Given the description of an element on the screen output the (x, y) to click on. 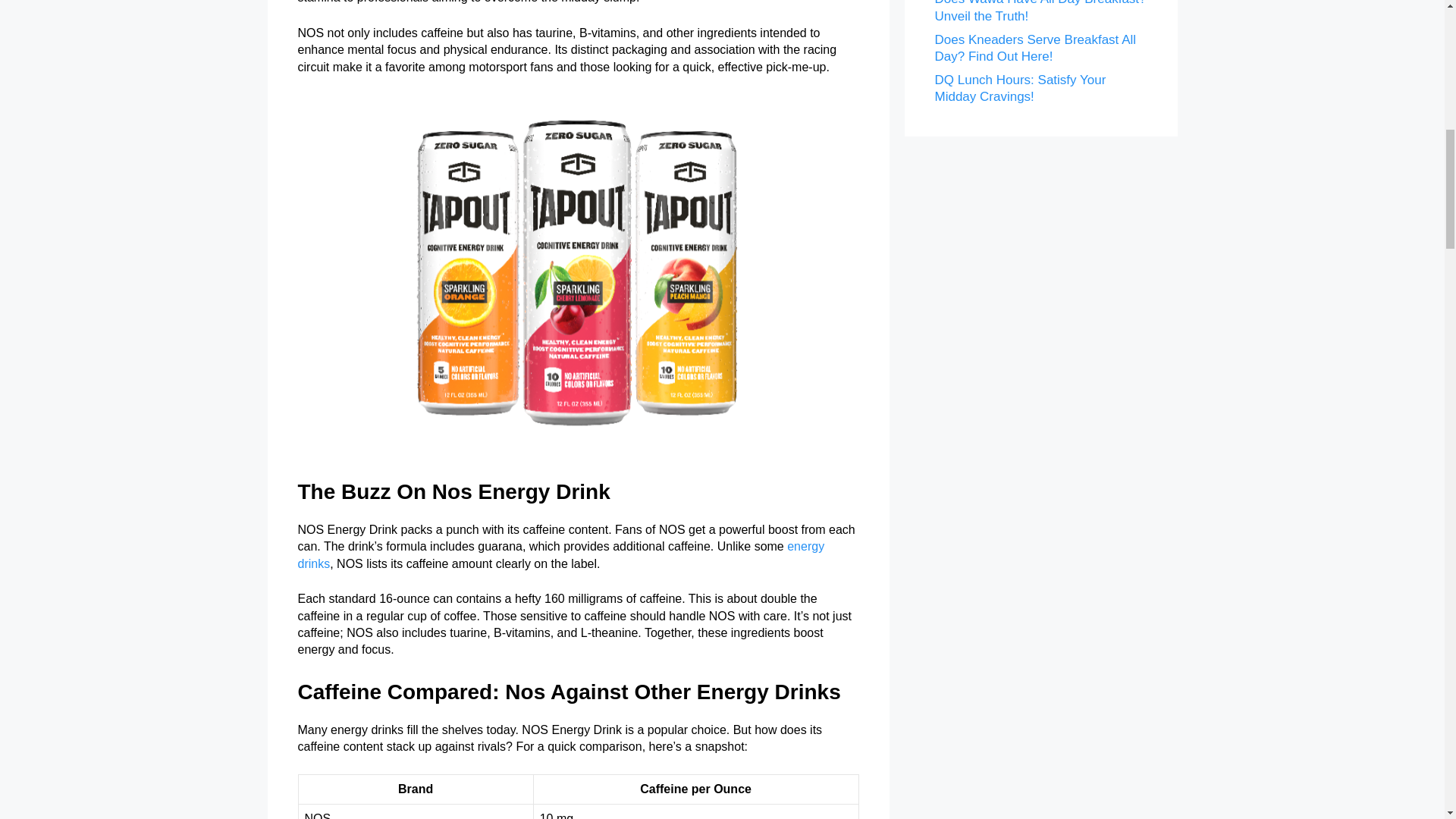
energy drinks (560, 554)
